Given the description of an element on the screen output the (x, y) to click on. 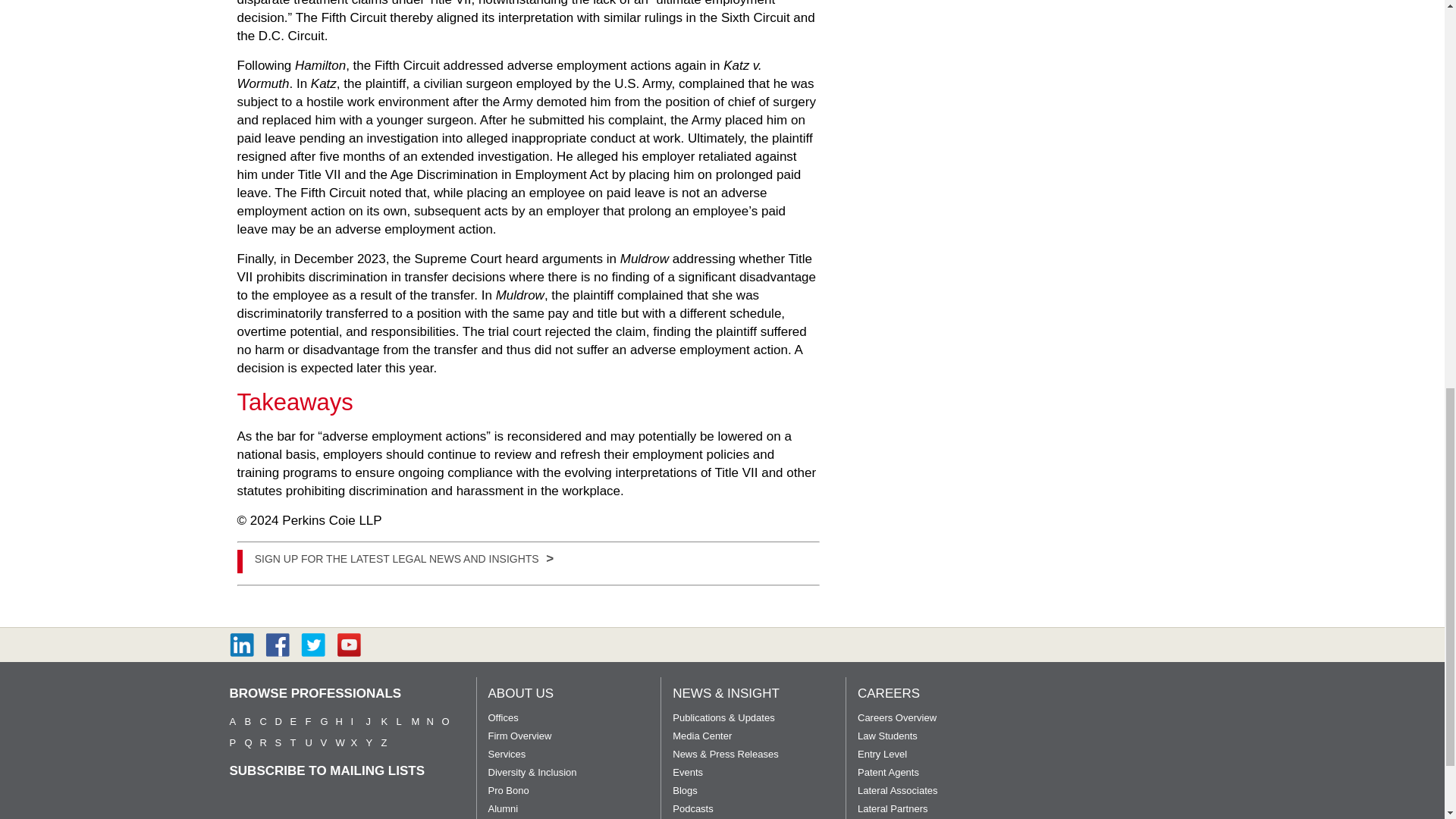
Blogs (684, 790)
Patent Agent Overview (887, 771)
Media Center (702, 736)
Apply Here (403, 557)
Lateral Partner (892, 807)
Pro Bono (508, 790)
